Given the description of an element on the screen output the (x, y) to click on. 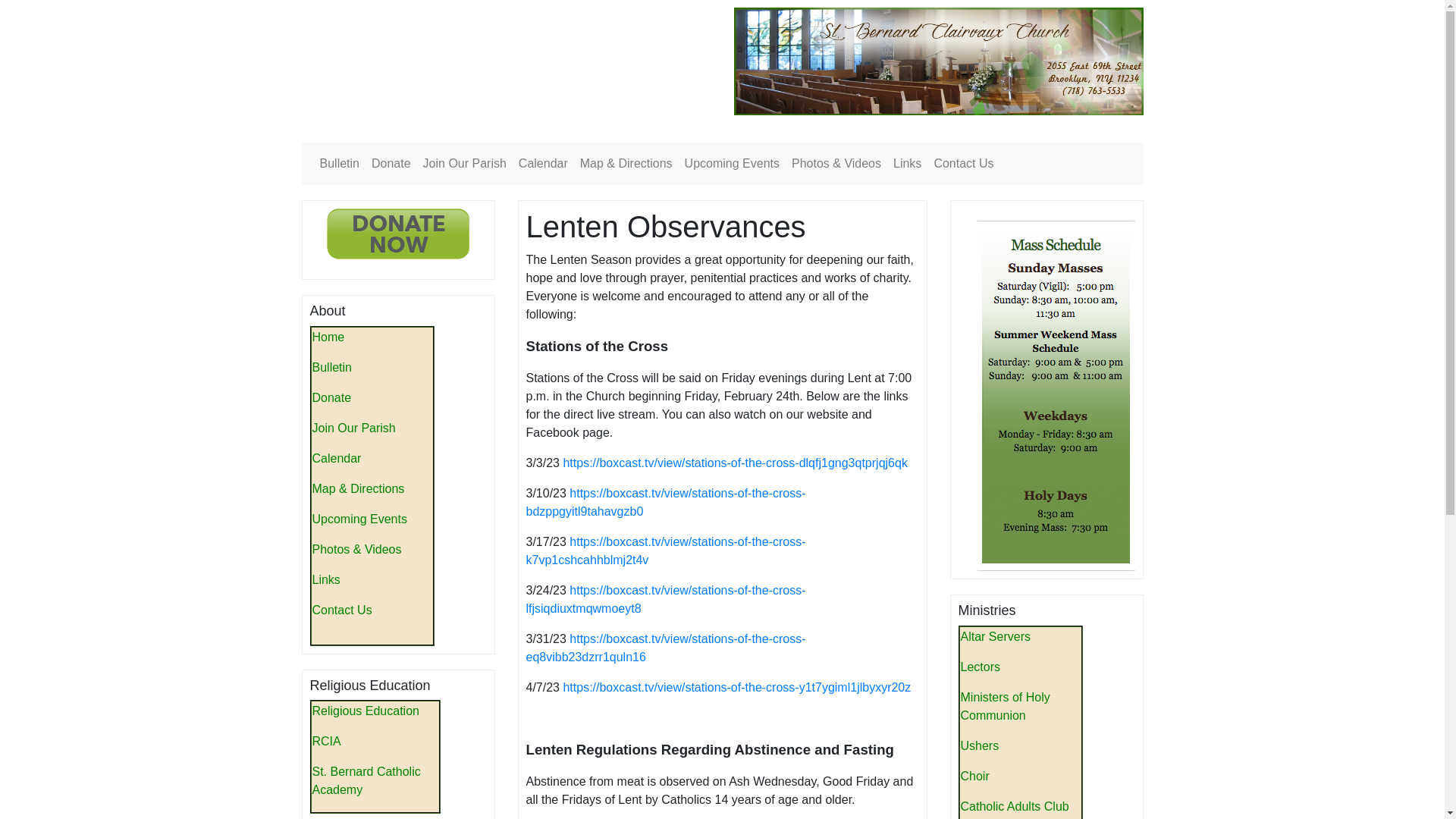
Donate (390, 163)
Bulletin (339, 163)
Join Our Parish (464, 163)
Religious Education (366, 710)
Contact Us (342, 609)
Contact Us (962, 163)
RCIA (326, 740)
Calendar (337, 458)
Upcoming Events (360, 518)
Bulletin (332, 367)
